Given the description of an element on the screen output the (x, y) to click on. 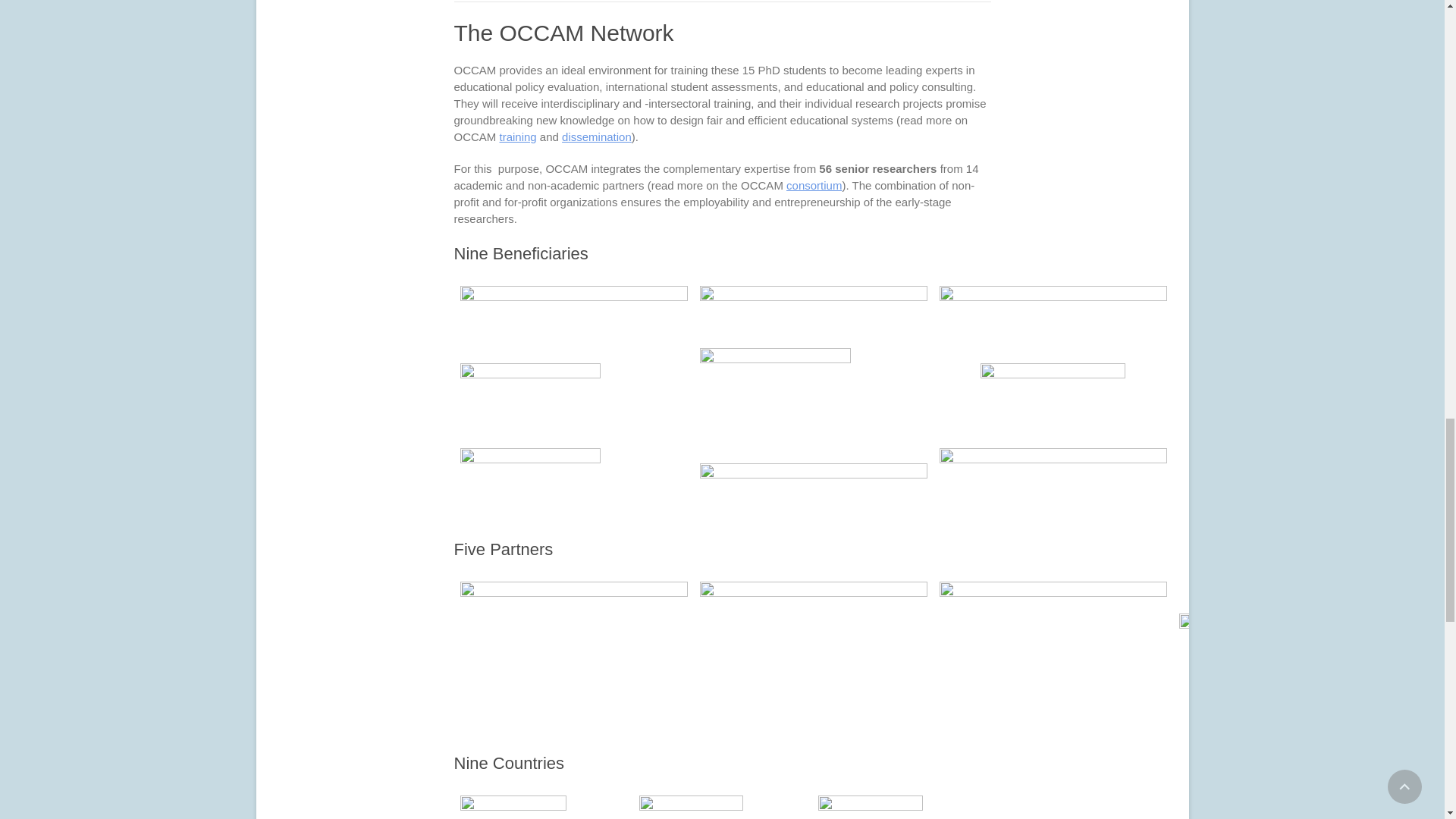
training (517, 136)
consortium (813, 185)
dissemination (596, 136)
